Given the description of an element on the screen output the (x, y) to click on. 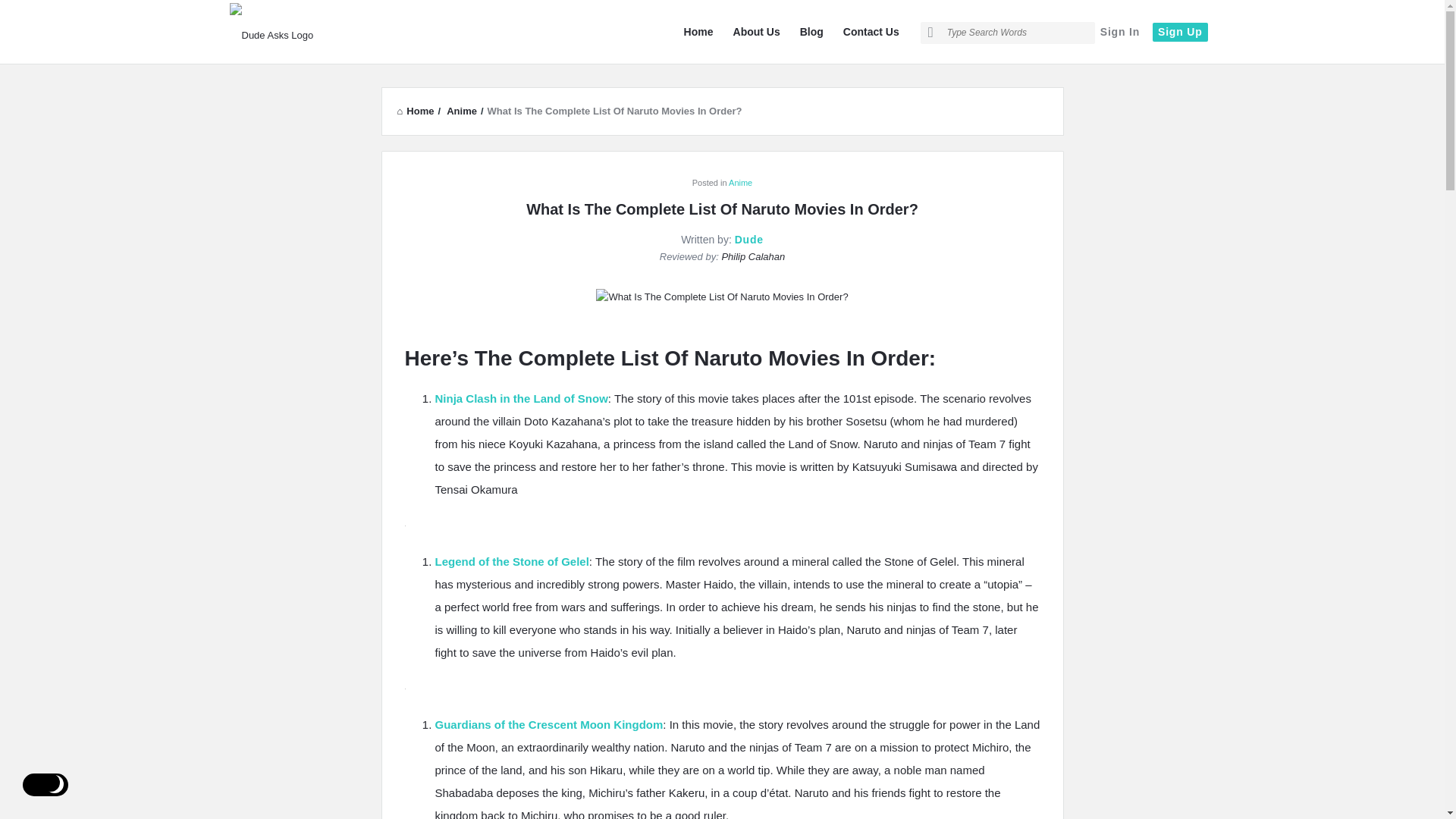
Home (698, 32)
Blog (811, 32)
Sign Up (1180, 31)
Sign In (1119, 31)
What Is The Complete List Of Naruto Movies In Order? (721, 296)
Home (415, 111)
Home (415, 111)
About Us (756, 32)
Dude Asks (323, 33)
Anime (461, 111)
Dude Asks (304, 32)
Contact Us (871, 32)
